Given the description of an element on the screen output the (x, y) to click on. 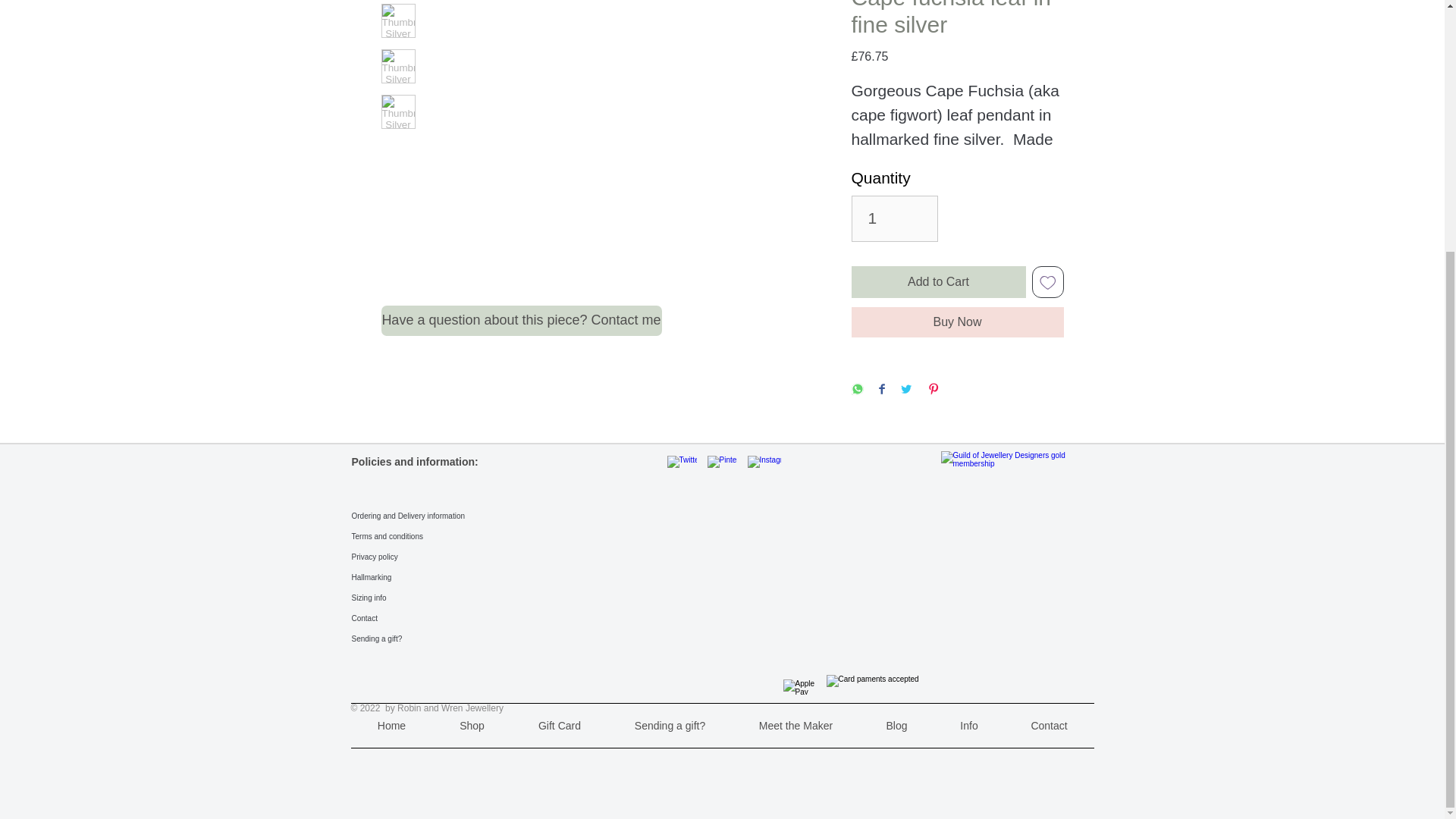
1 (893, 218)
Buy Now (956, 322)
Add to Cart (937, 282)
